Given the description of an element on the screen output the (x, y) to click on. 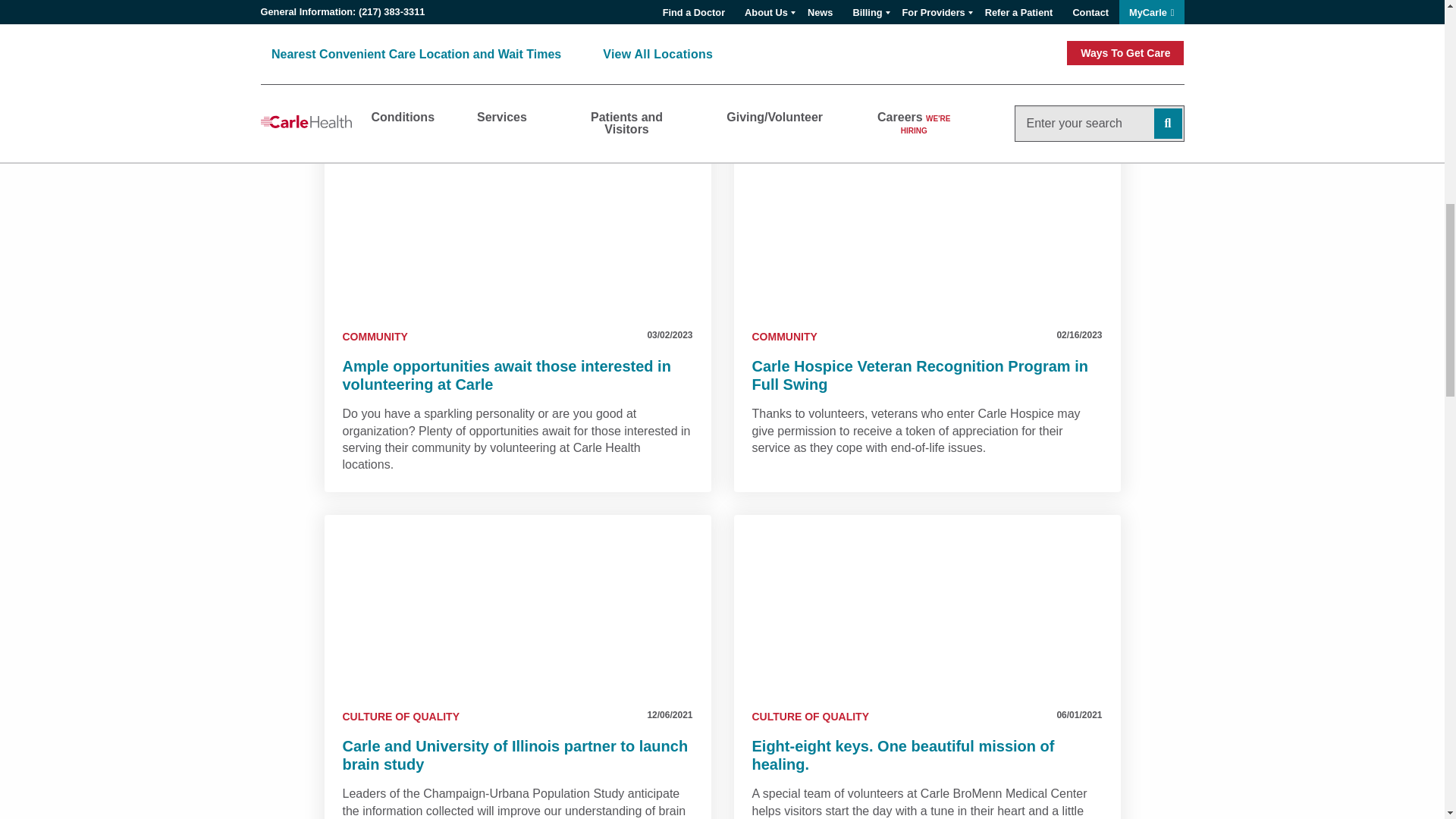
Carle Hospice Veteran Recognition Program in Full Swing (927, 225)
Eight-eight keys. One beautiful mission of healing. (927, 605)
